Given the description of an element on the screen output the (x, y) to click on. 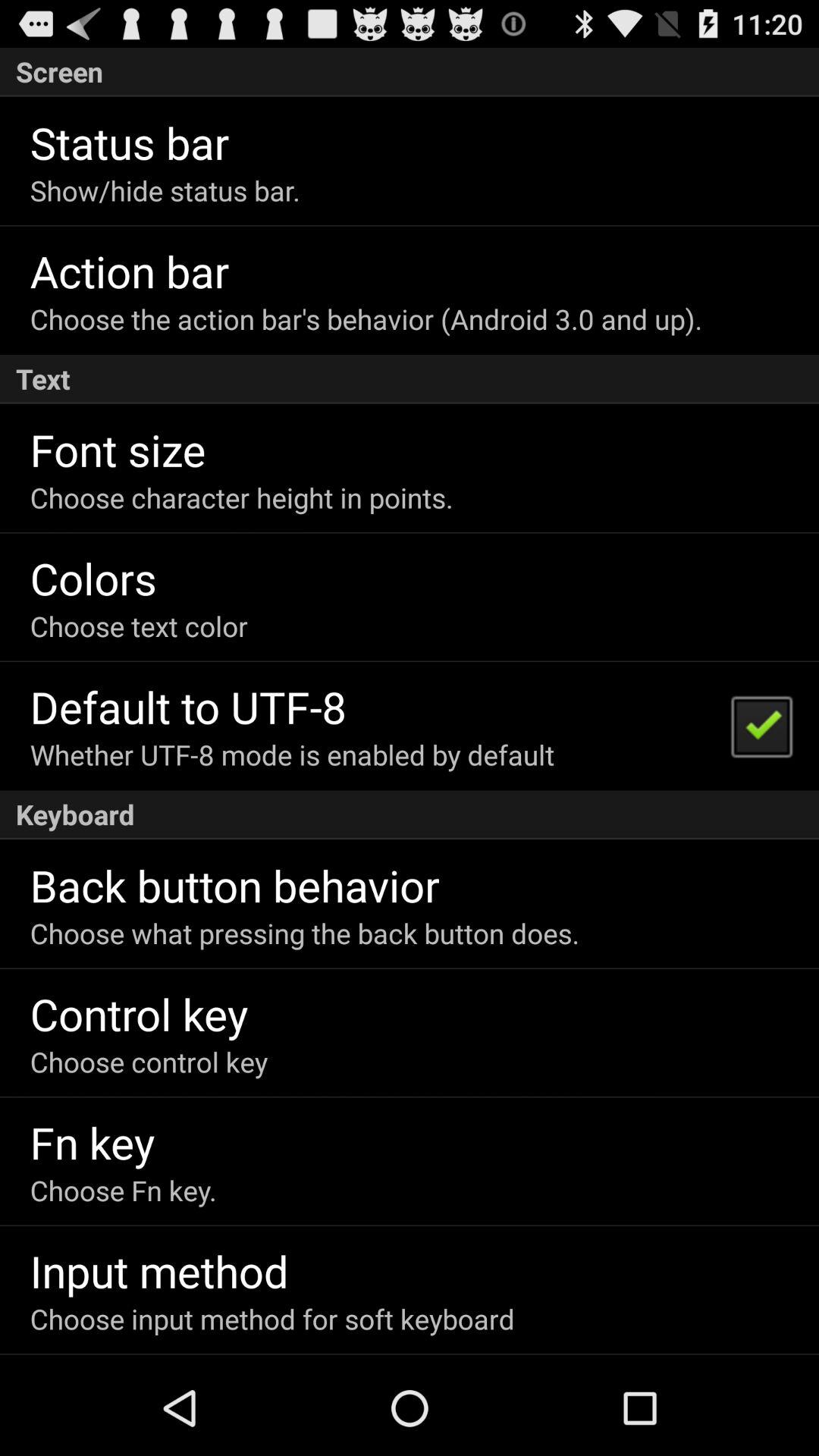
select the app above the choose character height app (117, 449)
